Given the description of an element on the screen output the (x, y) to click on. 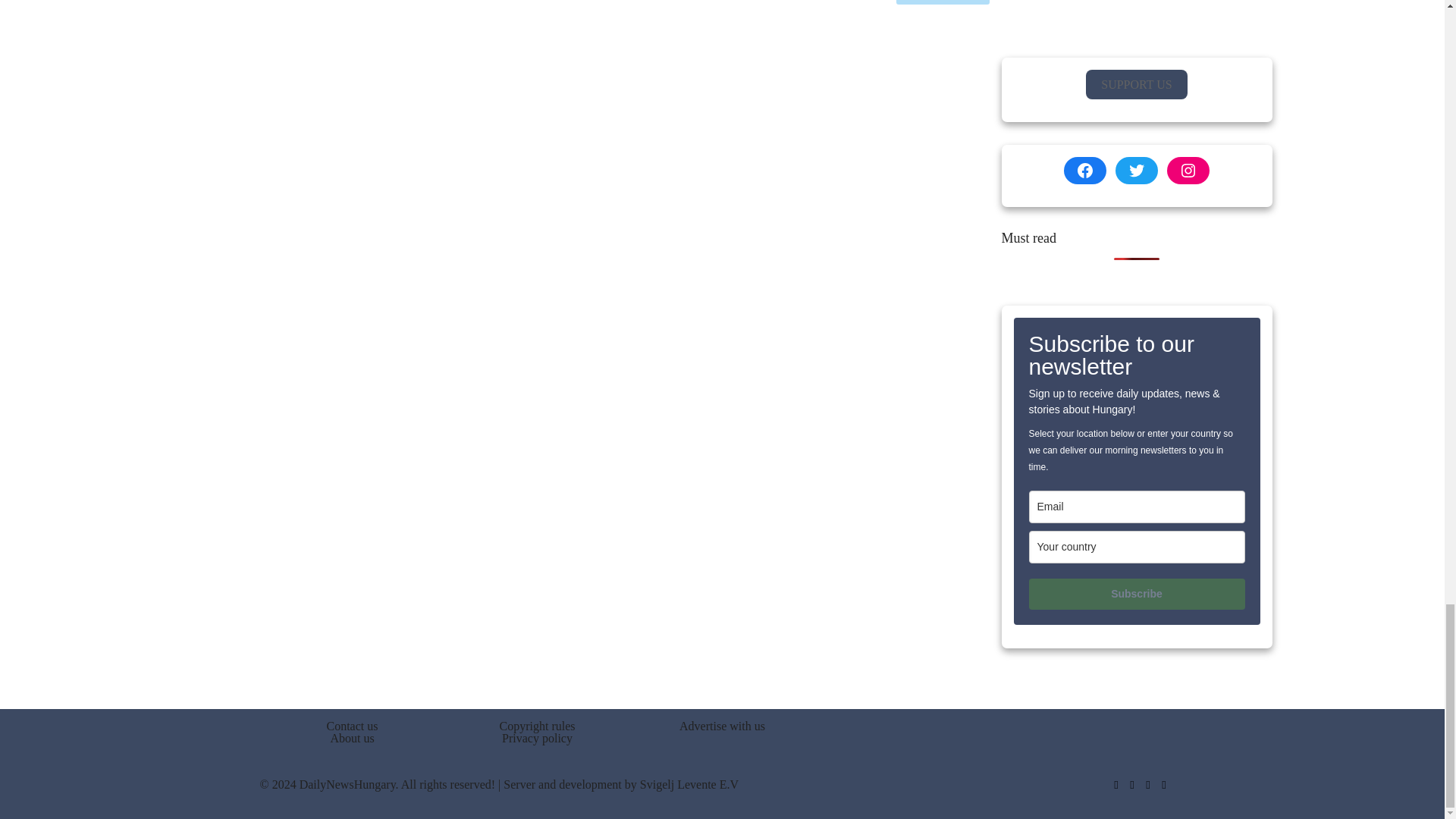
Post Comment (943, 2)
RSS (1164, 784)
Instagram (1147, 784)
Facebook (1115, 784)
